Given the description of an element on the screen output the (x, y) to click on. 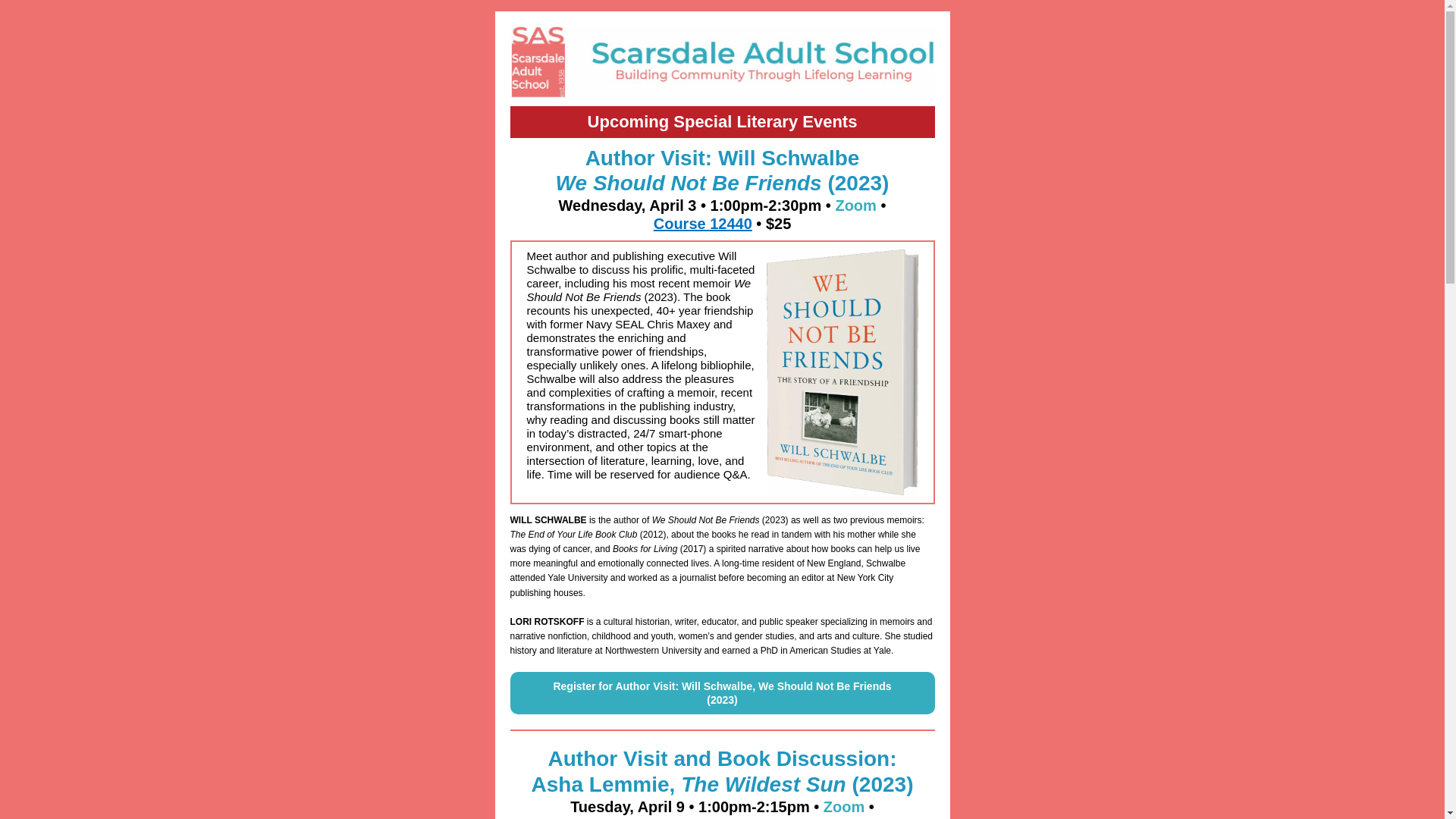
Course 12578 (702, 817)
Course 12440 (702, 223)
